Given the description of an element on the screen output the (x, y) to click on. 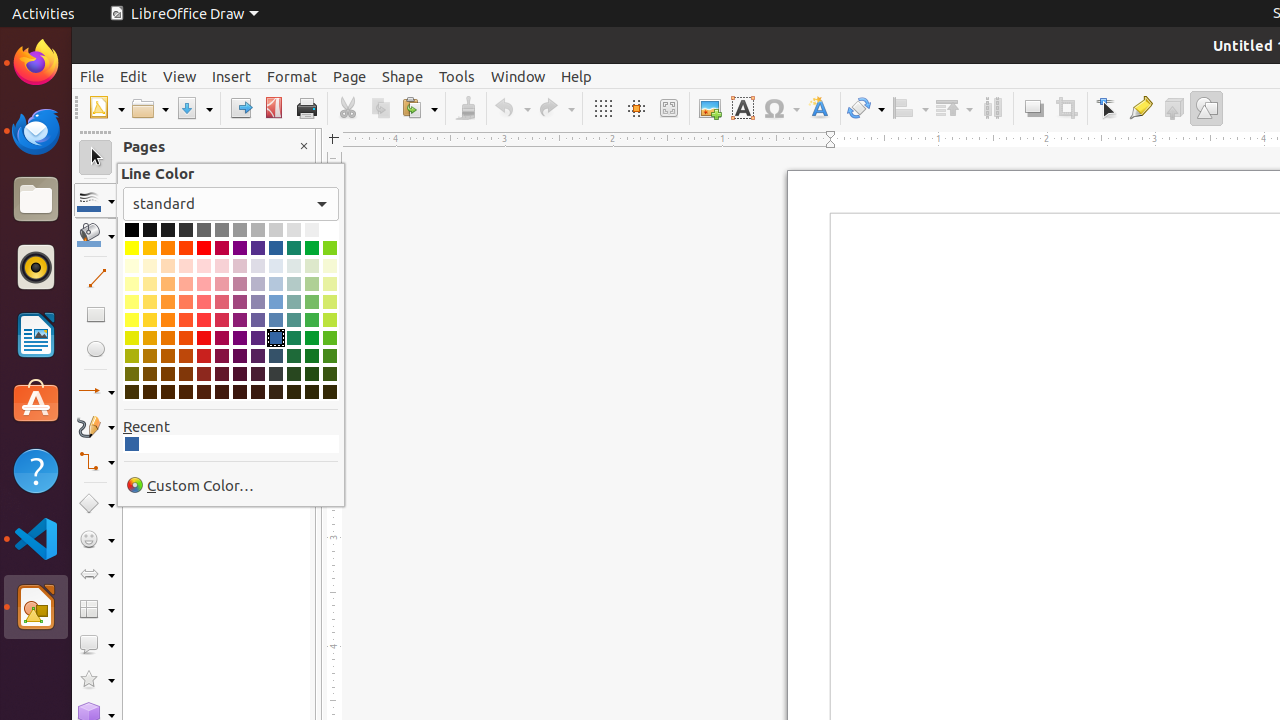
Dark Orange 2 Element type: list-item (168, 356)
Flowchart Shapes Element type: push-button (96, 609)
Light Red 1 Element type: list-item (204, 320)
Copy Element type: push-button (380, 108)
Light Orange 3 Element type: list-item (168, 284)
